Given the description of an element on the screen output the (x, y) to click on. 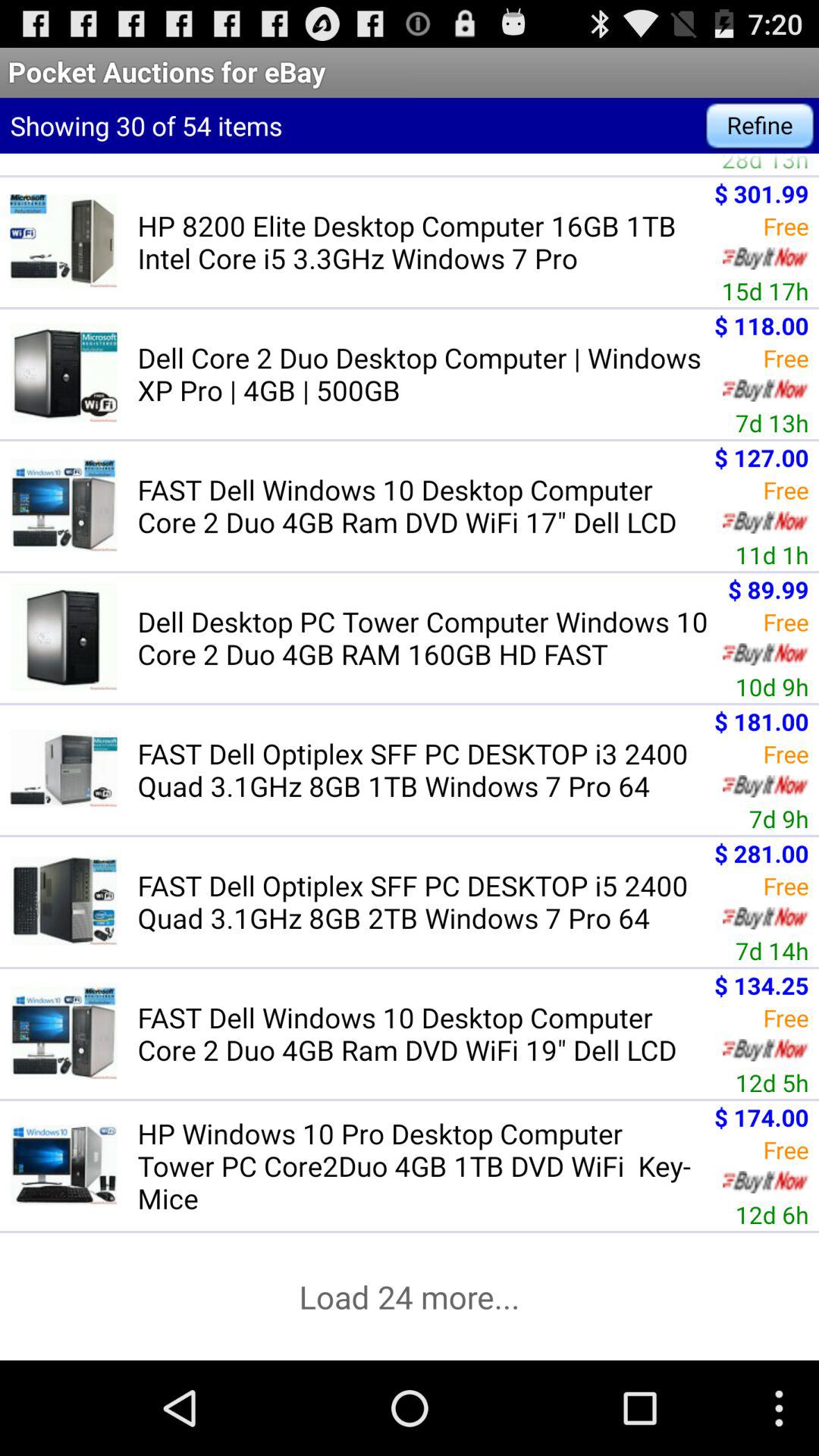
press 12d 5h app (771, 1082)
